Given the description of an element on the screen output the (x, y) to click on. 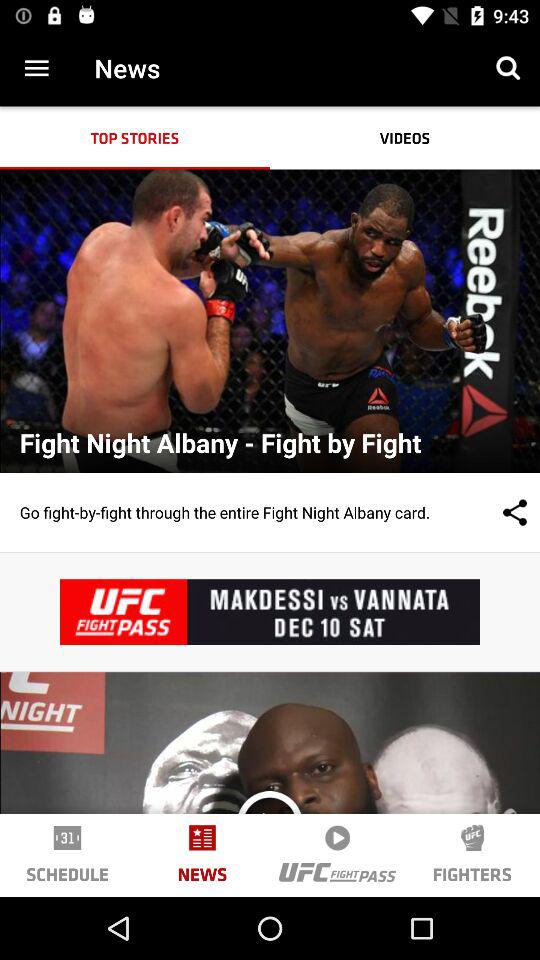
choose item to the left of news item (36, 68)
